Given the description of an element on the screen output the (x, y) to click on. 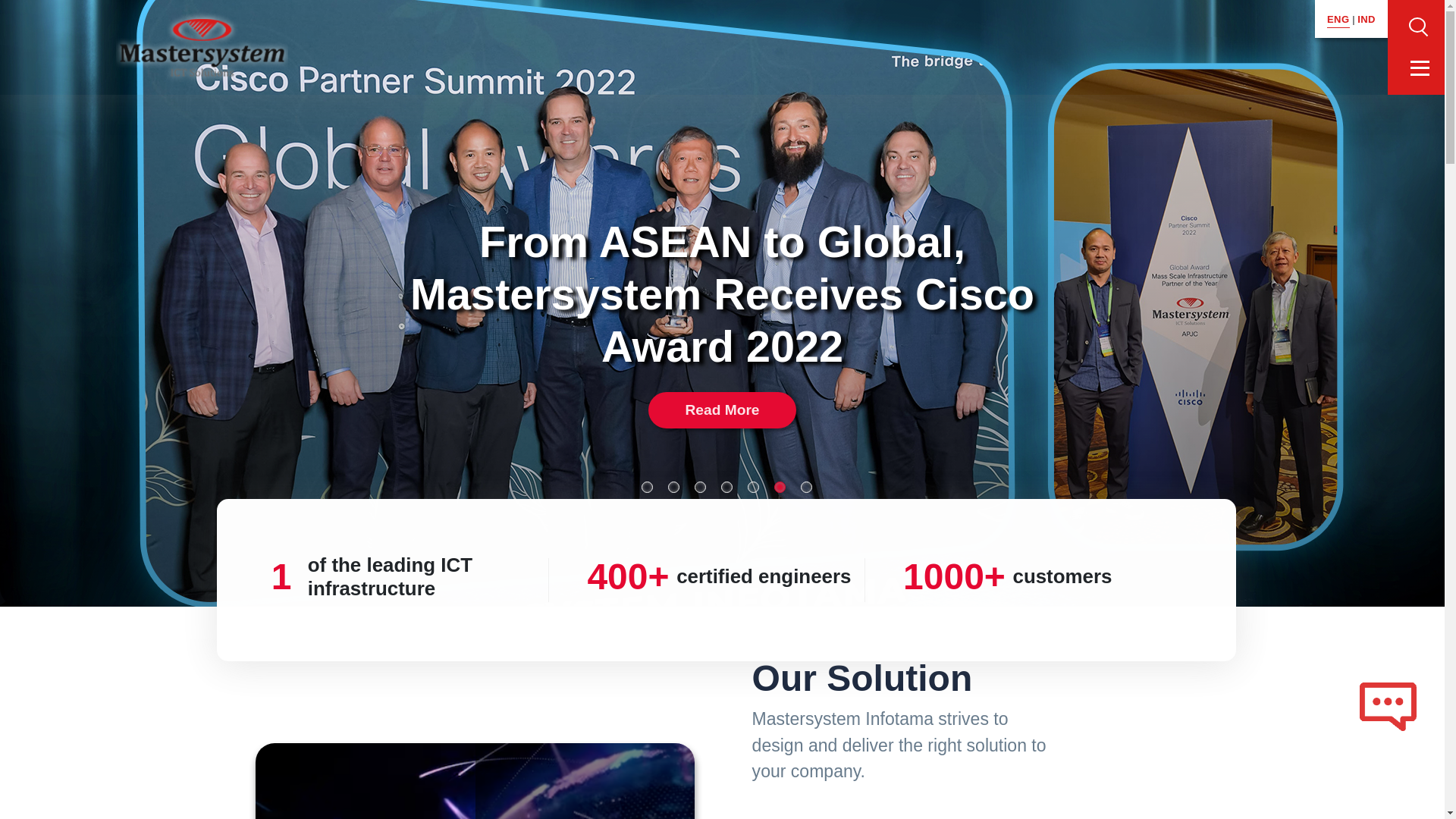
Read More (720, 410)
5 (753, 486)
3 (700, 486)
IND (1365, 19)
2 (673, 486)
6 (780, 486)
4 (726, 486)
7 (806, 486)
1 (647, 486)
ENG (1337, 19)
